Given the description of an element on the screen output the (x, y) to click on. 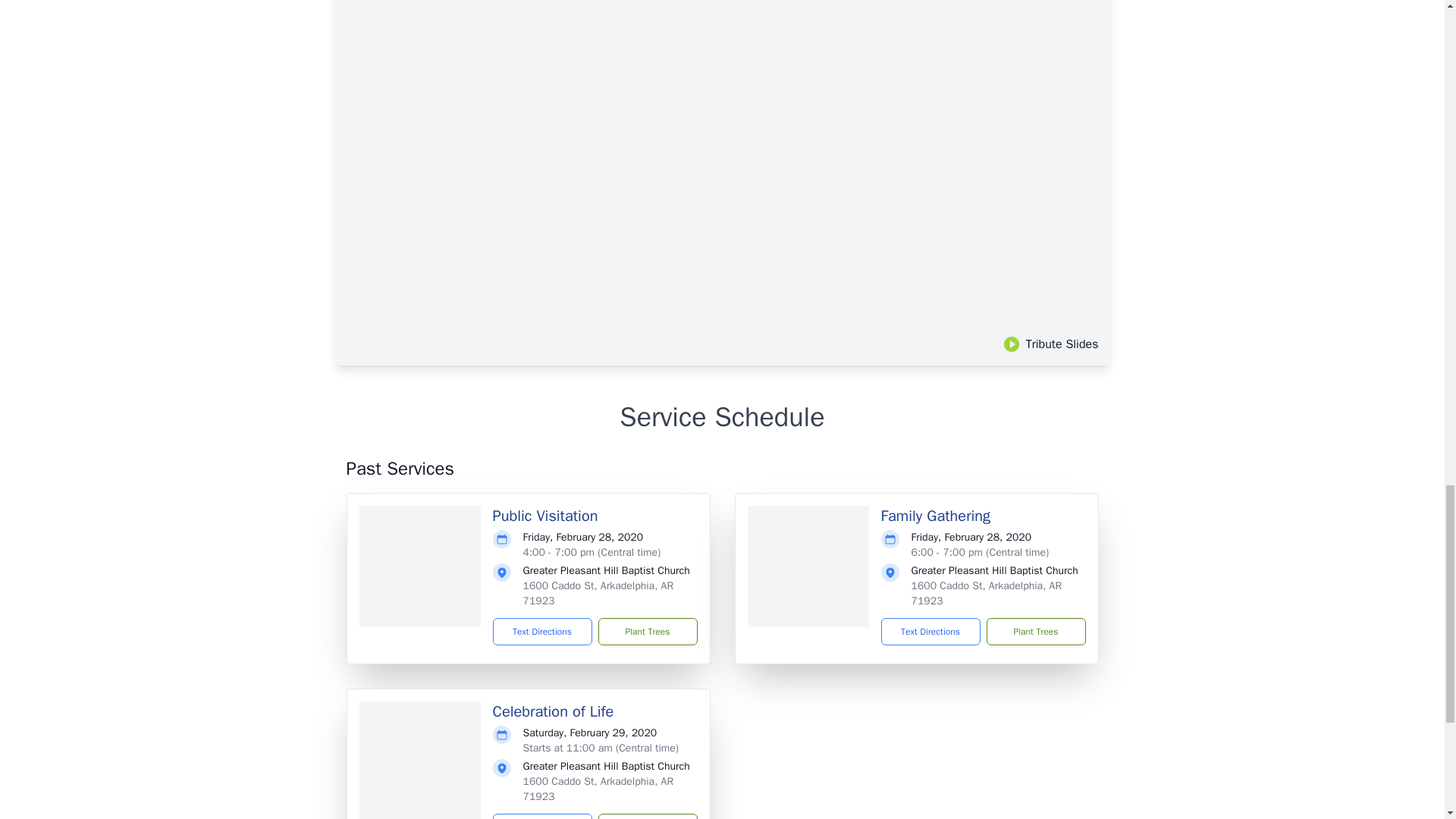
Text Directions (542, 816)
1600 Caddo St, Arkadelphia, AR 71923 (986, 593)
Plant Trees (646, 816)
1600 Caddo St, Arkadelphia, AR 71923 (598, 788)
Plant Trees (646, 631)
Text Directions (542, 631)
Plant Trees (1034, 631)
Text Directions (929, 631)
1600 Caddo St, Arkadelphia, AR 71923 (598, 593)
